Given the description of an element on the screen output the (x, y) to click on. 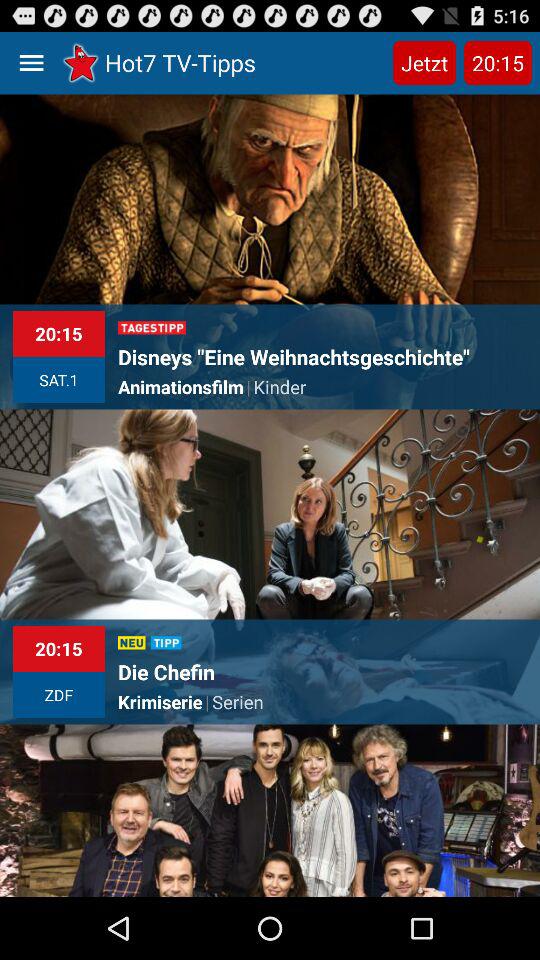
tap item next to 20:15 button (424, 62)
